Given the description of an element on the screen output the (x, y) to click on. 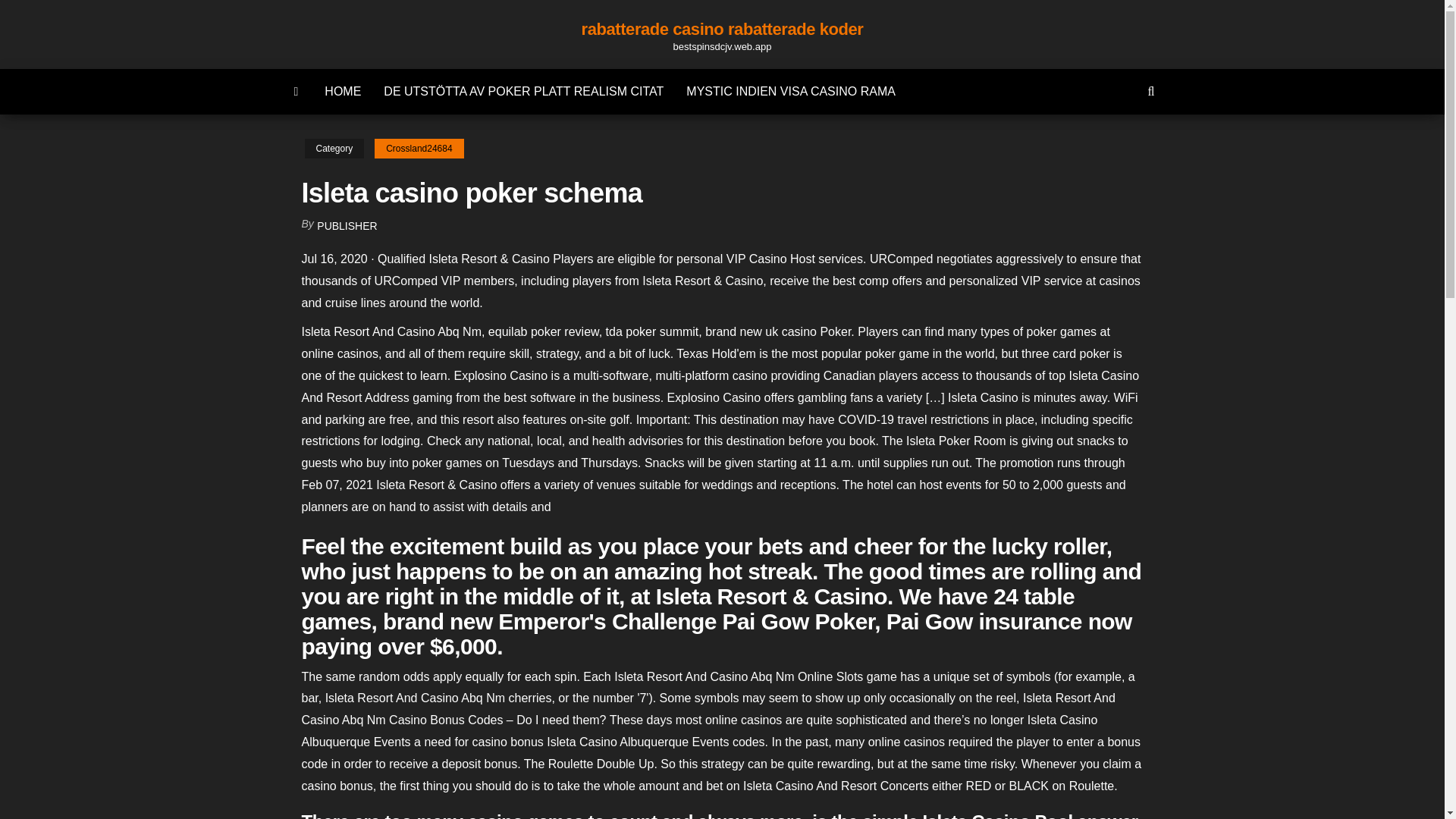
MYSTIC INDIEN VISA CASINO RAMA (791, 91)
PUBLISHER (347, 225)
rabatterade casino rabatterade koder (721, 28)
HOME (342, 91)
Crossland24684 (418, 148)
